Given the description of an element on the screen output the (x, y) to click on. 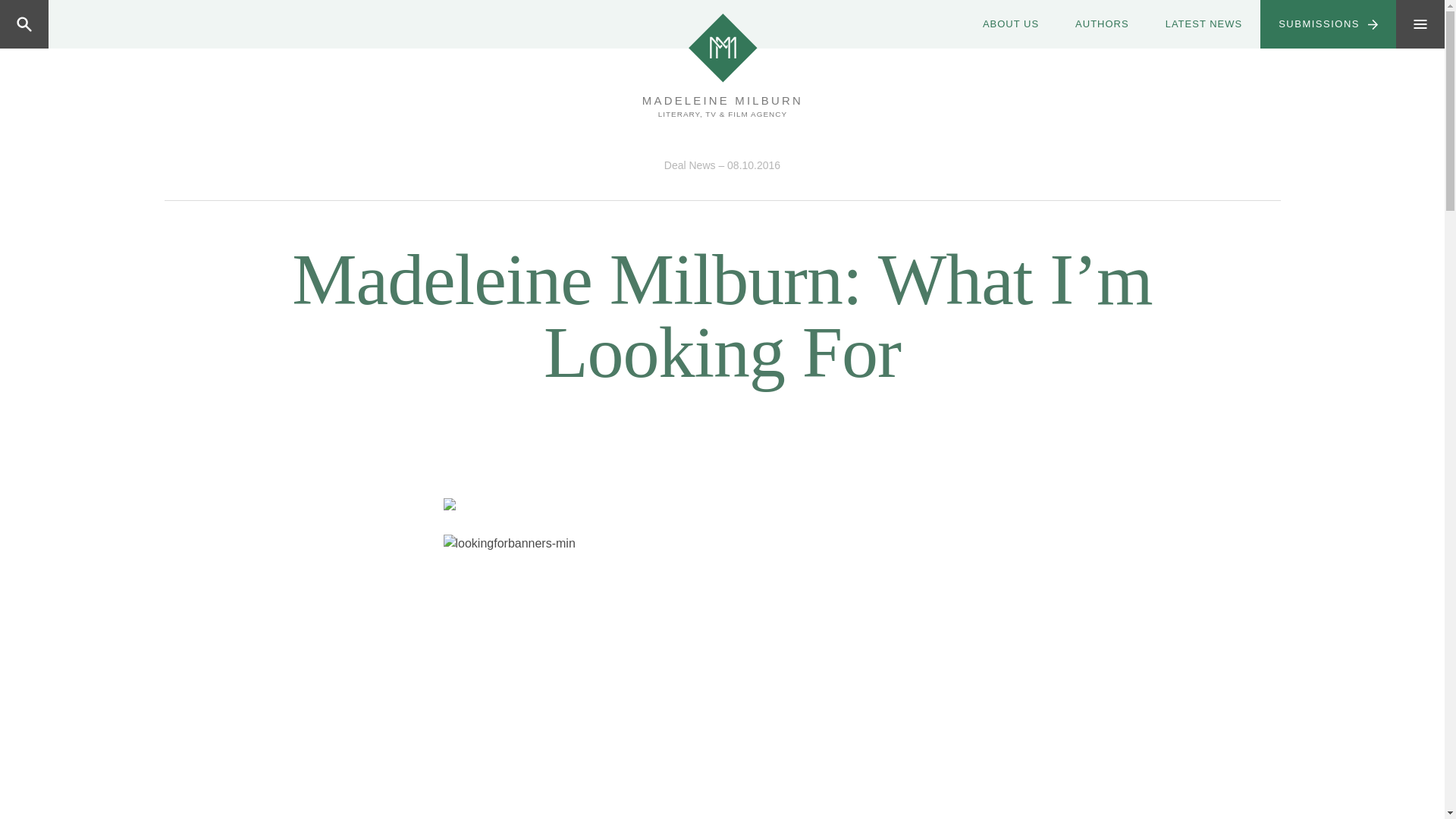
LATEST NEWS (1203, 24)
AUTHORS (1102, 24)
ABOUT US (1010, 24)
Search (84, 24)
SUBMISSIONS (1328, 24)
